Given the description of an element on the screen output the (x, y) to click on. 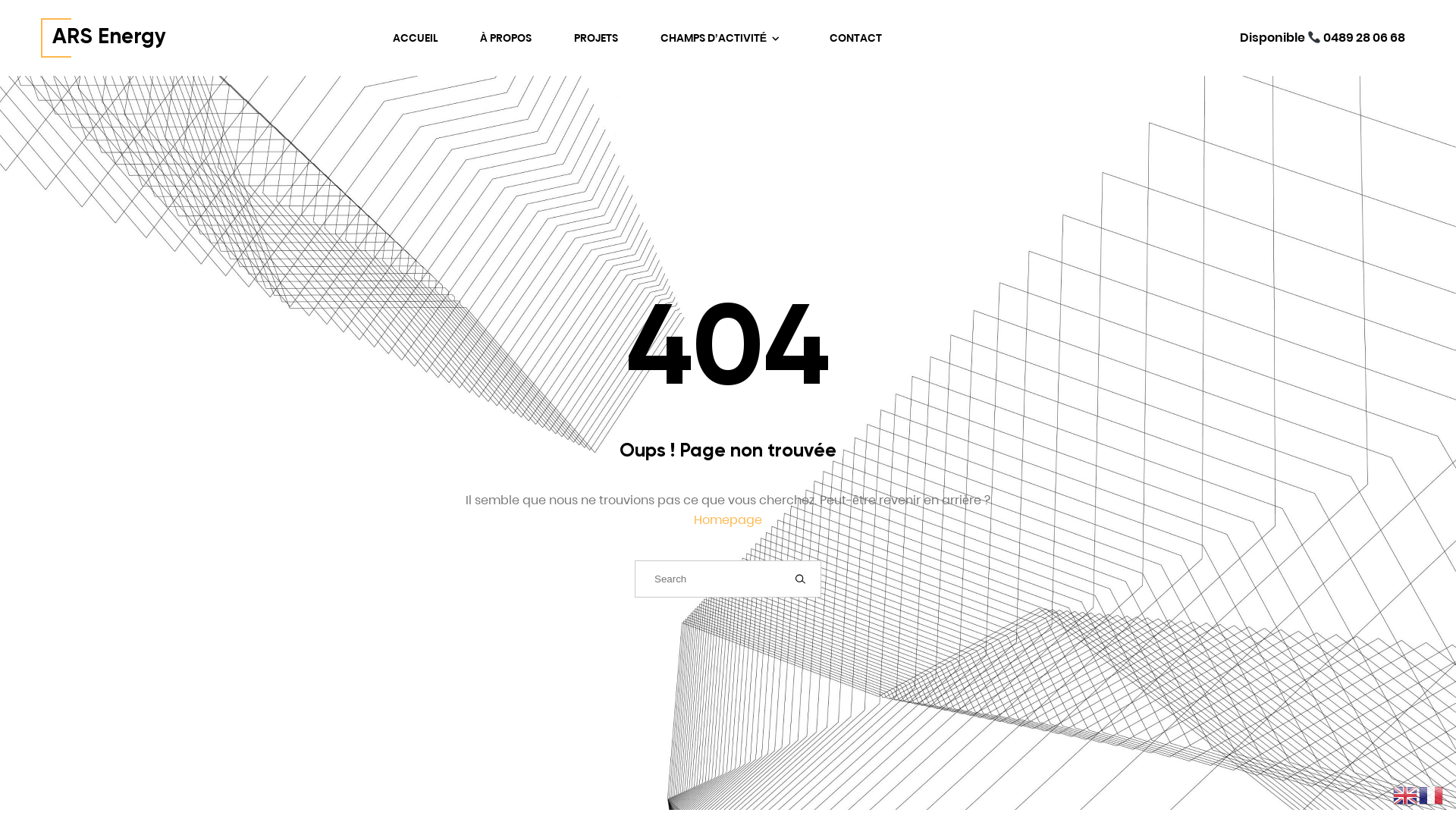
Disponible 0489 28 06 68 Element type: text (1322, 37)
French Element type: hover (1431, 794)
ARS Energy Element type: text (103, 37)
English Element type: hover (1405, 794)
Homepage Element type: text (727, 519)
ACCUEIL Element type: text (414, 37)
PROJETS Element type: text (596, 37)
CONTACT Element type: text (855, 37)
